Given the description of an element on the screen output the (x, y) to click on. 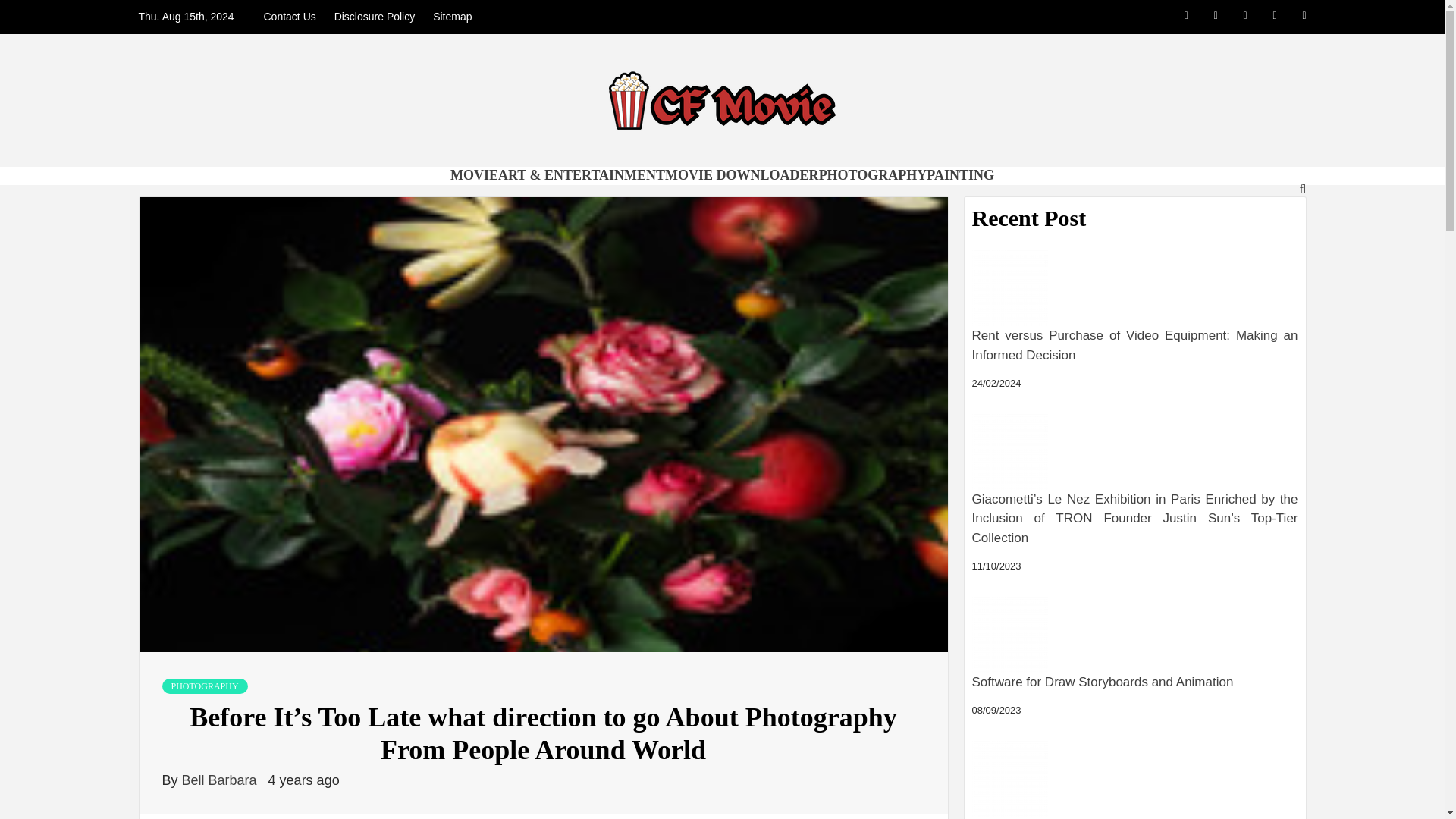
Software for Draw Storyboards and Animation (1135, 686)
MOVIE (473, 174)
CF MOVIE (333, 179)
Disclosure Policy (374, 17)
Bell Barbara (221, 780)
PHOTOGRAPHY (872, 174)
